Given the description of an element on the screen output the (x, y) to click on. 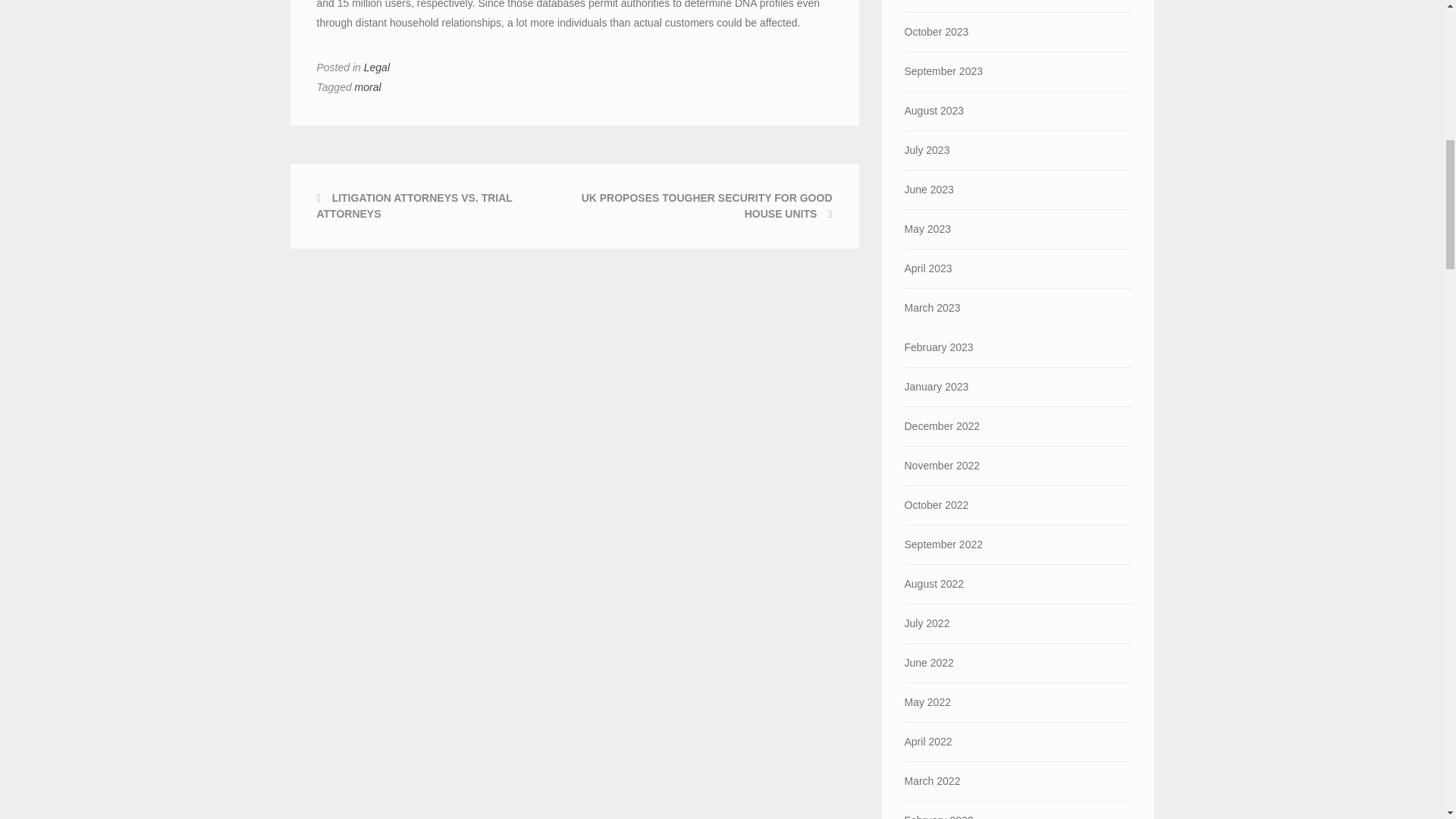
February 2023 (1017, 347)
October 2023 (1017, 32)
May 2023 (1017, 228)
UK PROPOSES TOUGHER SECURITY FOR GOOD HOUSE UNITS (706, 205)
moral (368, 87)
November 2023 (1017, 6)
LITIGATION ATTORNEYS VS. TRIAL ATTORNEYS (414, 205)
Legal (377, 67)
June 2023 (1017, 189)
September 2023 (1017, 71)
July 2023 (1017, 150)
August 2023 (1017, 110)
March 2023 (1017, 308)
April 2023 (1017, 268)
